Given the description of an element on the screen output the (x, y) to click on. 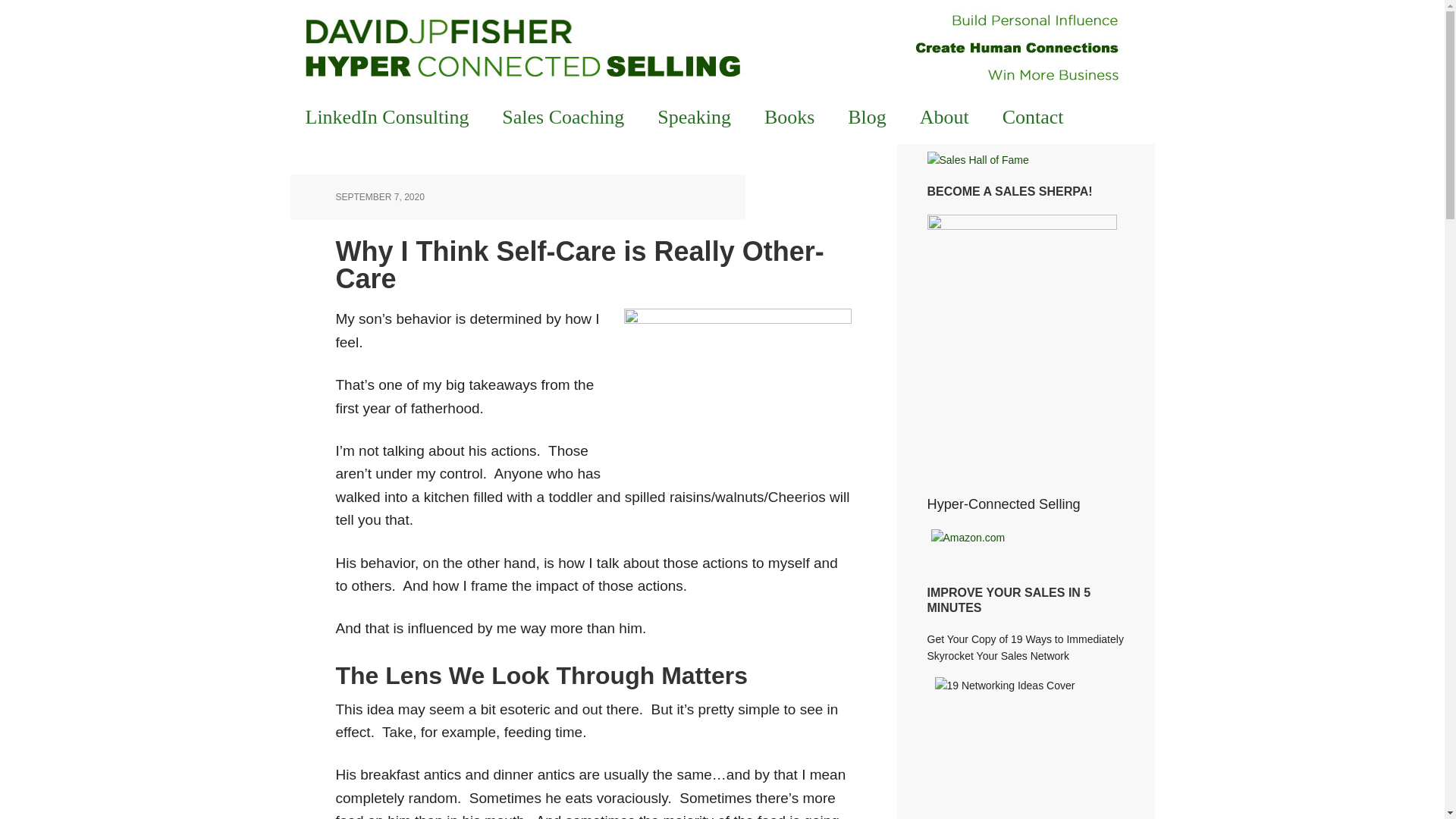
Blog (866, 117)
Sales Coaching (562, 117)
About (944, 117)
LinkedIn Consulting (386, 117)
Contact (1032, 117)
Speaking (693, 117)
Books (789, 117)
